Given the description of an element on the screen output the (x, y) to click on. 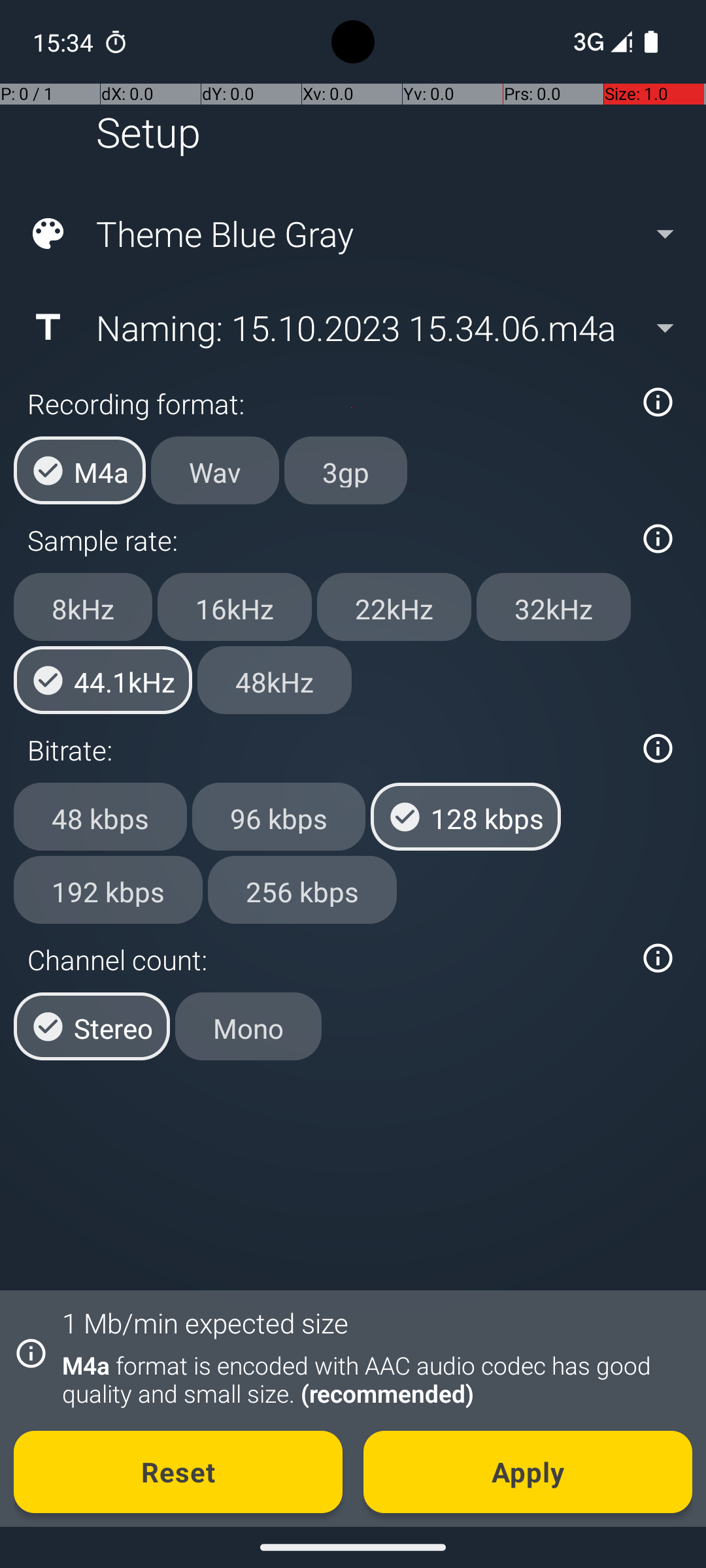
Naming: 15.10.2023 15.34.06.m4a Element type: android.widget.TextView (352, 327)
